Given the description of an element on the screen output the (x, y) to click on. 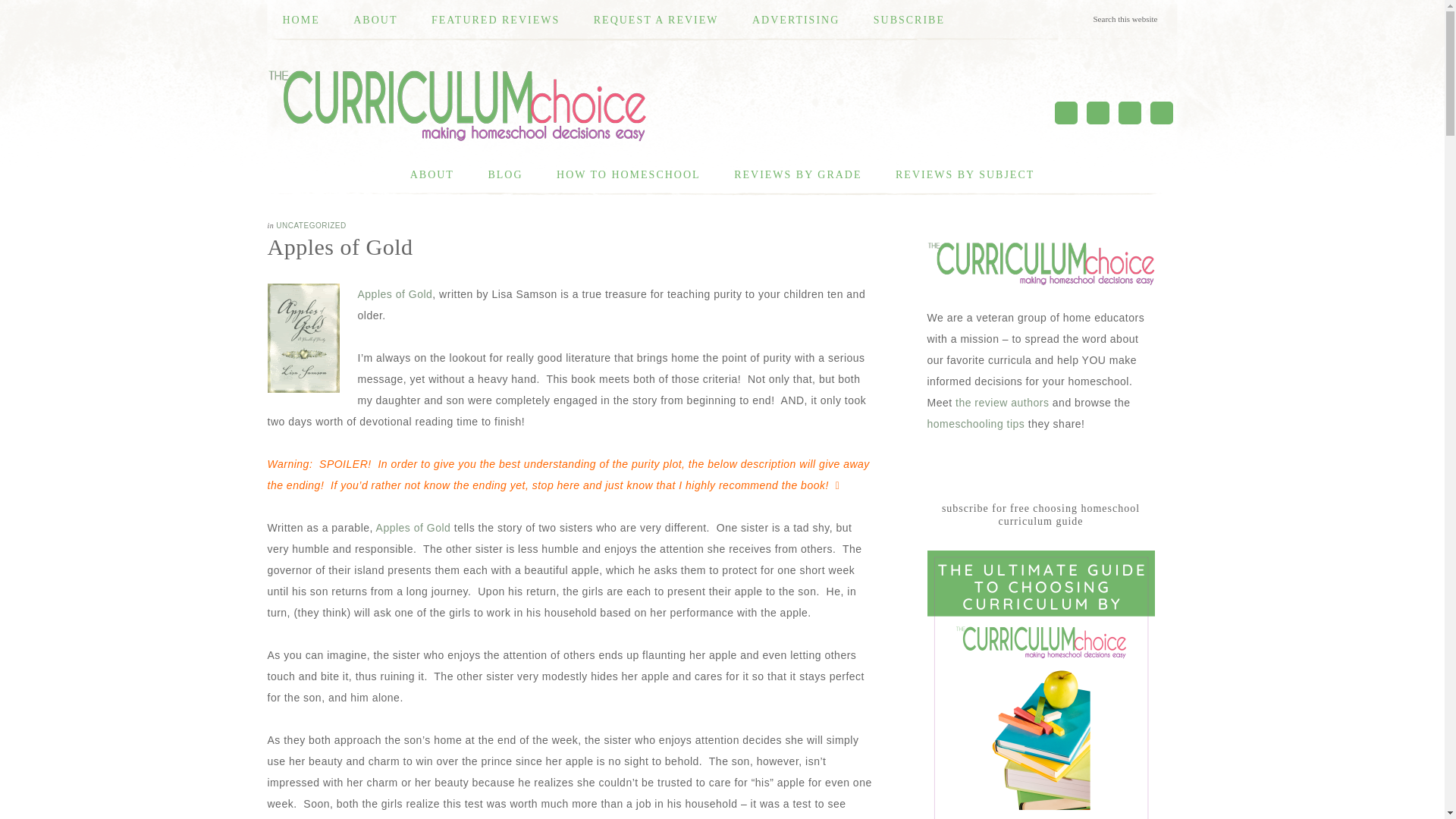
THE CURRICULUM CHOICE (456, 104)
REQUEST A REVIEW (655, 20)
ABOUT (374, 20)
ABOUT (431, 174)
FEATURED REVIEWS (495, 20)
HOME (300, 20)
REVIEWS BY SUBJECT (964, 174)
BLOG (504, 174)
SUBSCRIBE (909, 20)
ADVERTISING (795, 20)
REVIEWS BY GRADE (797, 174)
HOW TO HOMESCHOOL (628, 174)
